Given the description of an element on the screen output the (x, y) to click on. 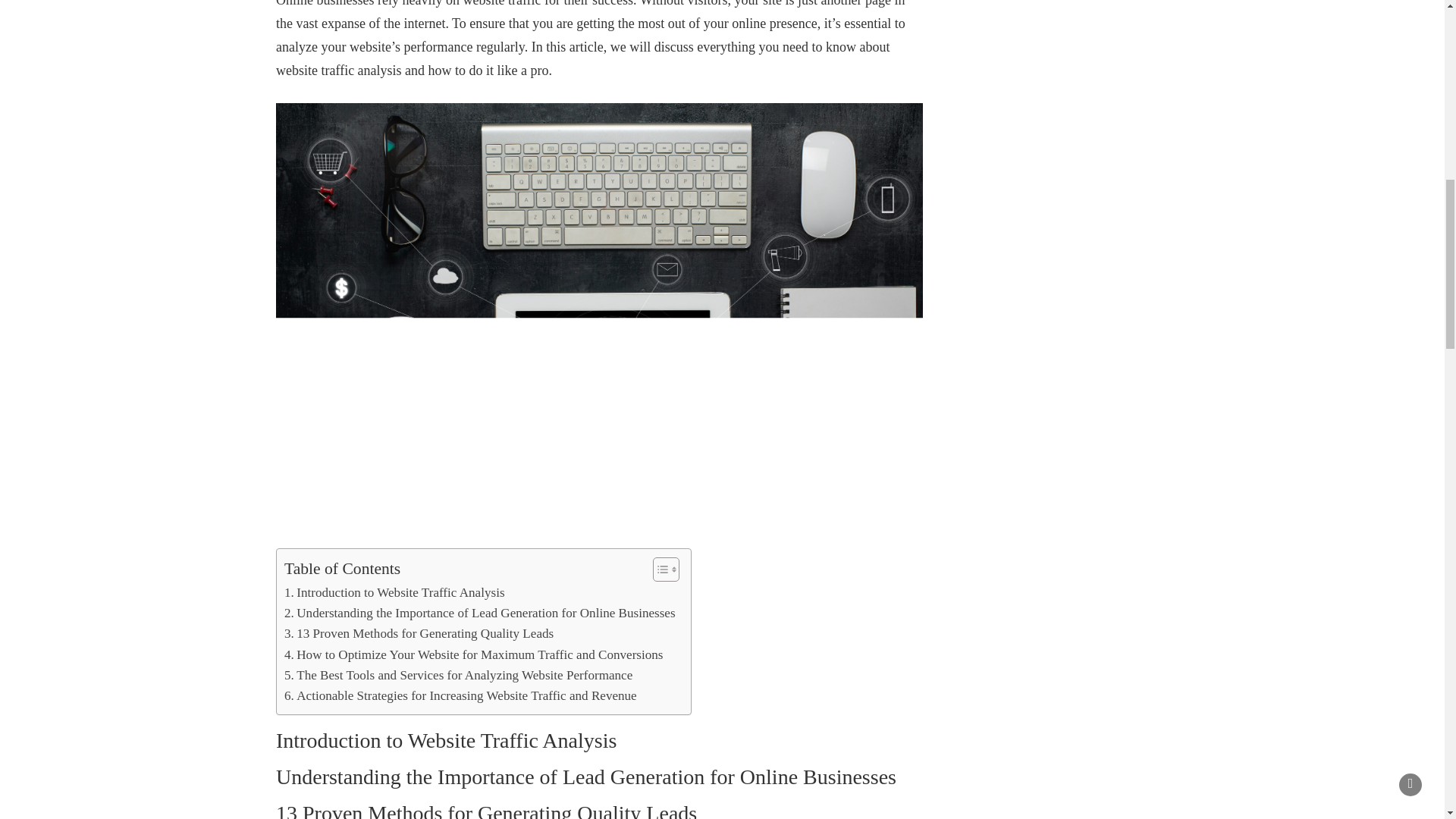
13 Proven Methods for Generating Quality Leads (418, 633)
Introduction to Website Traffic Analysis (394, 592)
13 Proven Methods for Generating Quality Leads (418, 633)
